Given the description of an element on the screen output the (x, y) to click on. 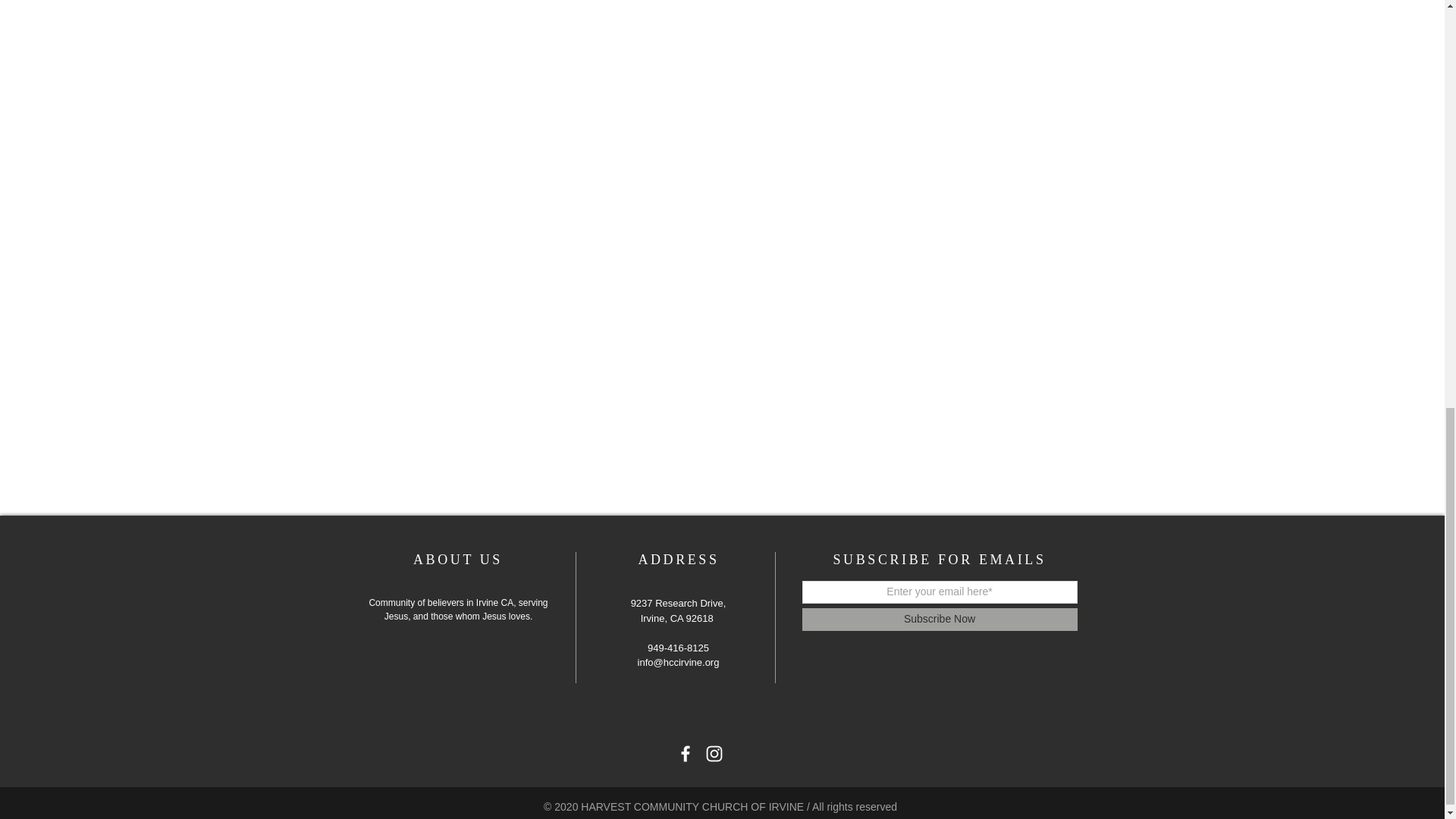
Subscribe Now (939, 619)
